Given the description of an element on the screen output the (x, y) to click on. 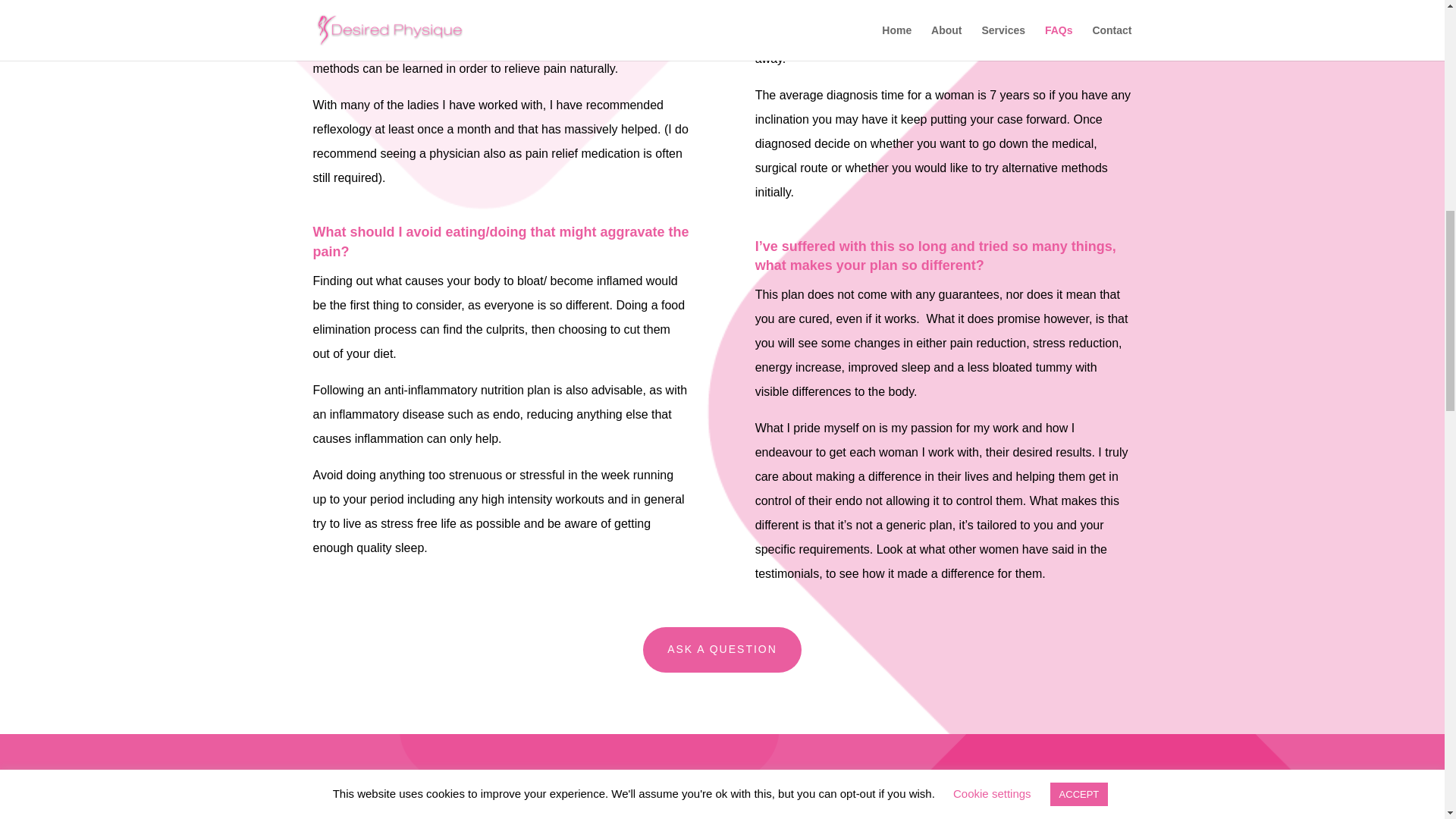
ASK A QUESTION (722, 649)
